Given the description of an element on the screen output the (x, y) to click on. 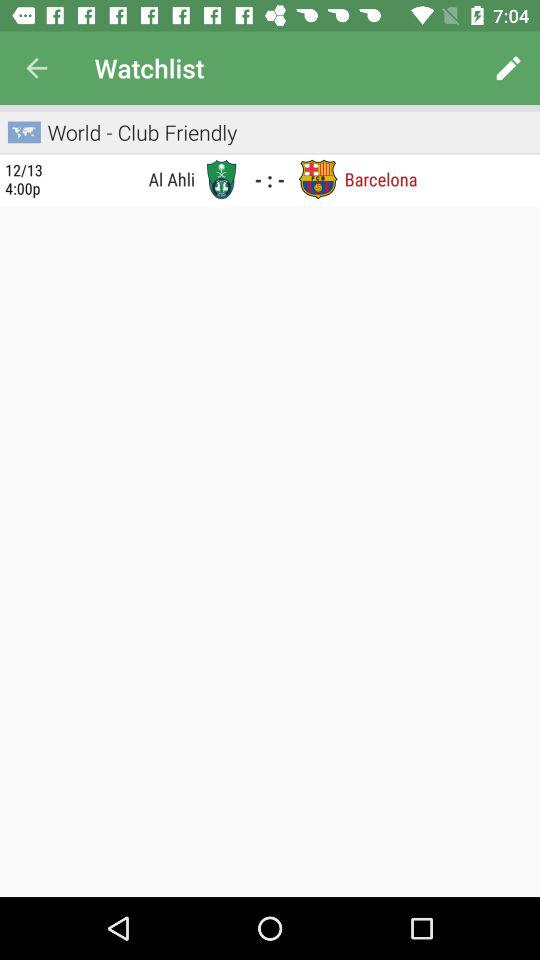
turn off the icon to the right of the 12 13 4 (125, 178)
